Given the description of an element on the screen output the (x, y) to click on. 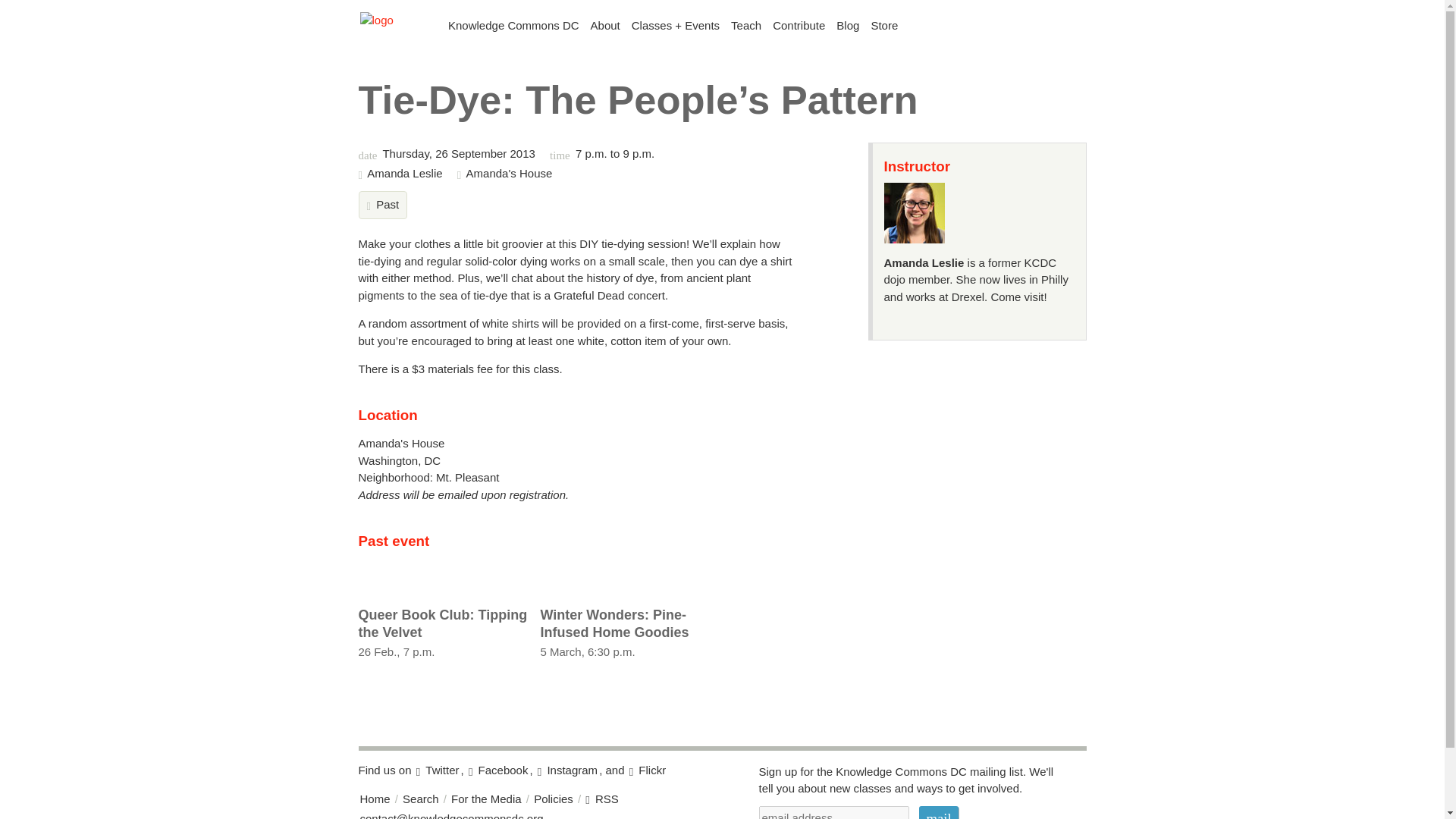
Search (421, 798)
Store (884, 25)
About (605, 25)
Blog (443, 627)
Contribute (847, 25)
mail (799, 25)
Home (938, 812)
Knowledge Commons DC (374, 798)
mail (513, 25)
Teach (938, 812)
For the Media (625, 627)
Policies (746, 25)
